Given the description of an element on the screen output the (x, y) to click on. 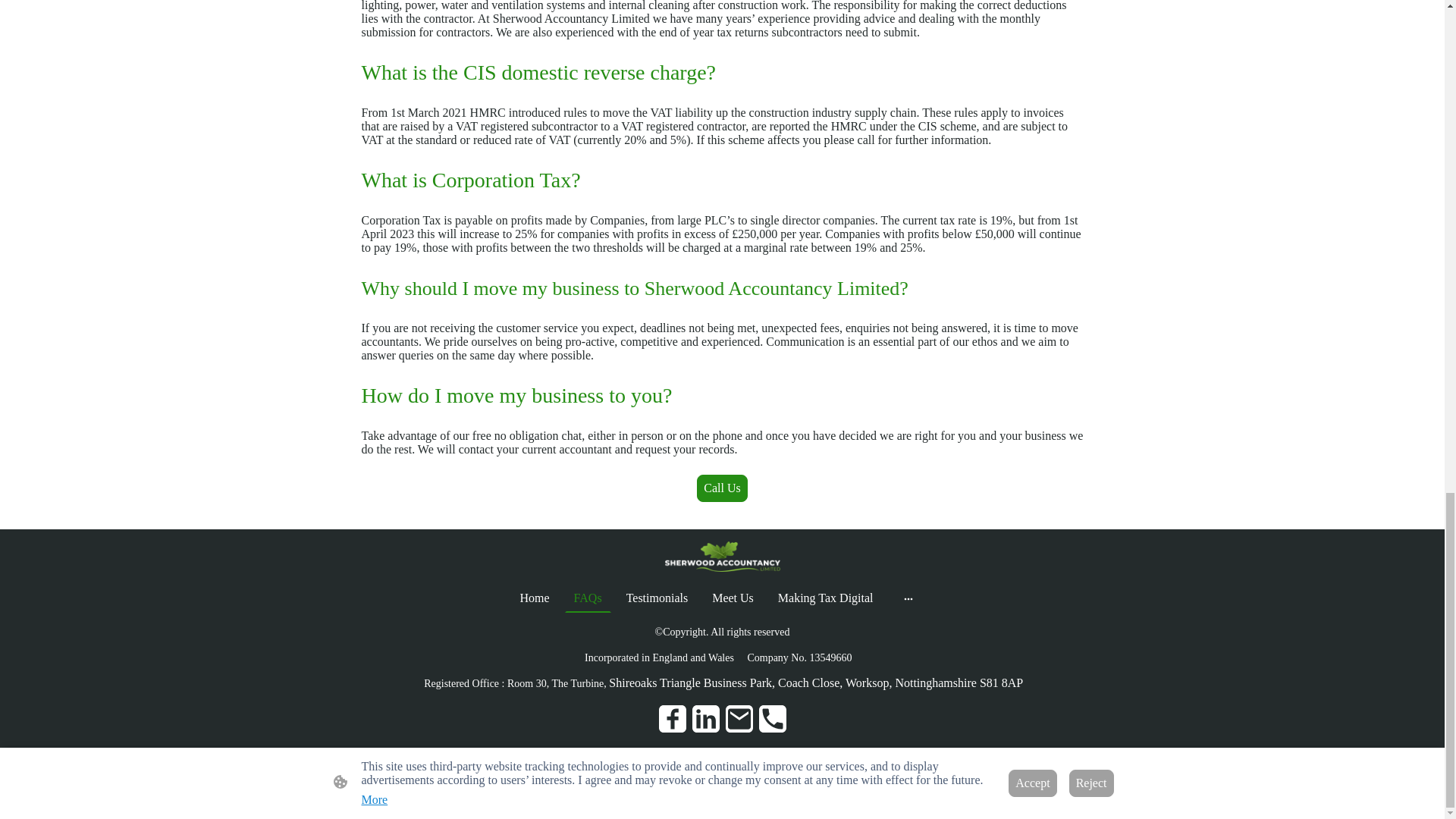
Home (534, 597)
Making Tax Digital (825, 597)
FAQs (588, 597)
Testimonials (656, 597)
Meet Us (732, 597)
Call Us (721, 488)
